Given the description of an element on the screen output the (x, y) to click on. 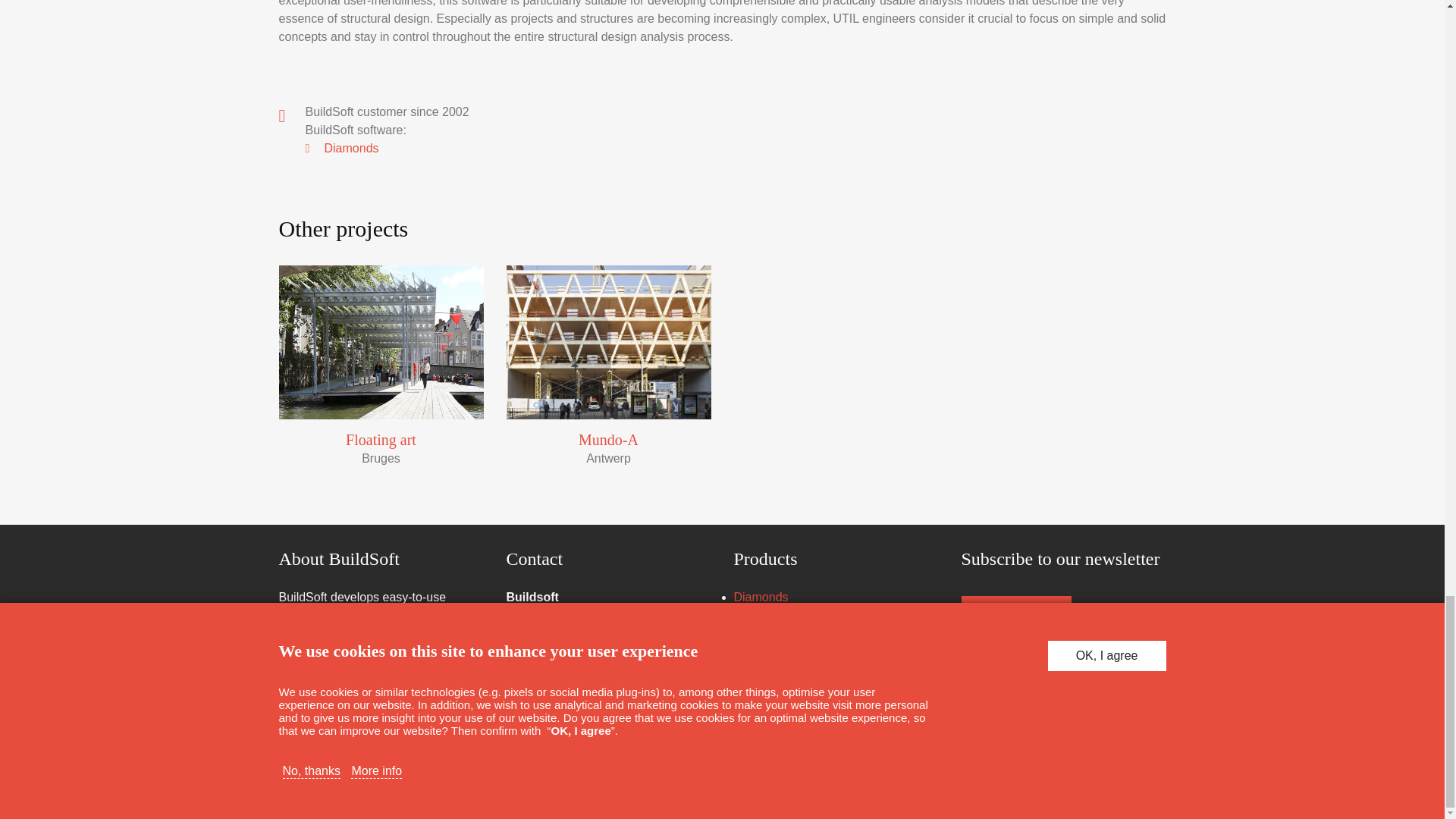
Follow BuildSoft on Facebook (1136, 776)
Follow BuildSoft on Twitter (1116, 776)
Follow BuildSoft on LinkedIn (1094, 776)
About Civenso group (375, 687)
Follow BuildSoft on Instagram (1157, 776)
Follow BuildSoft on Youtube (1074, 776)
